Given the description of an element on the screen output the (x, y) to click on. 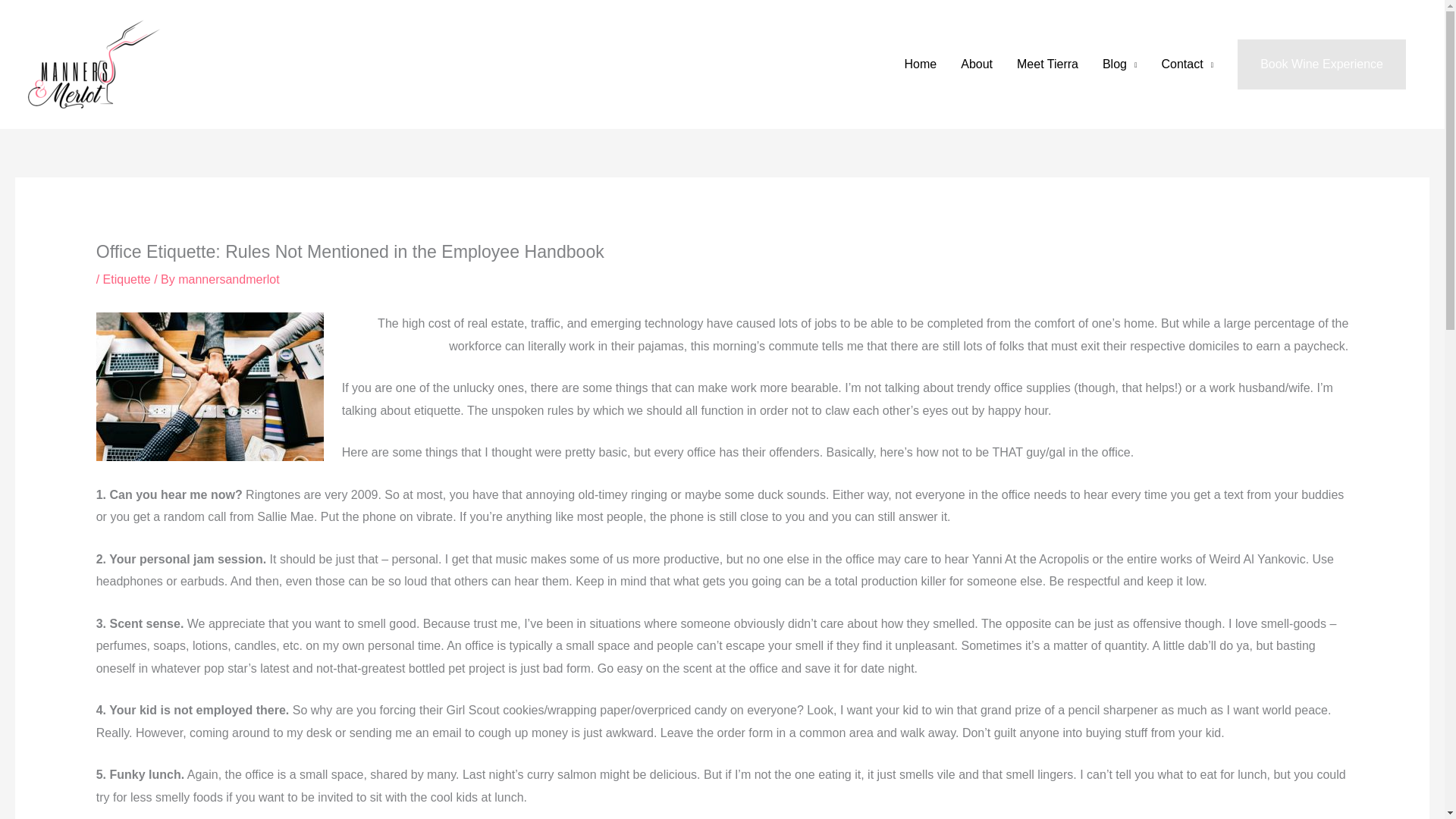
Etiquette (127, 278)
View all posts by mannersandmerlot (228, 278)
Book Wine Experience (1321, 64)
mannersandmerlot (228, 278)
